Given the description of an element on the screen output the (x, y) to click on. 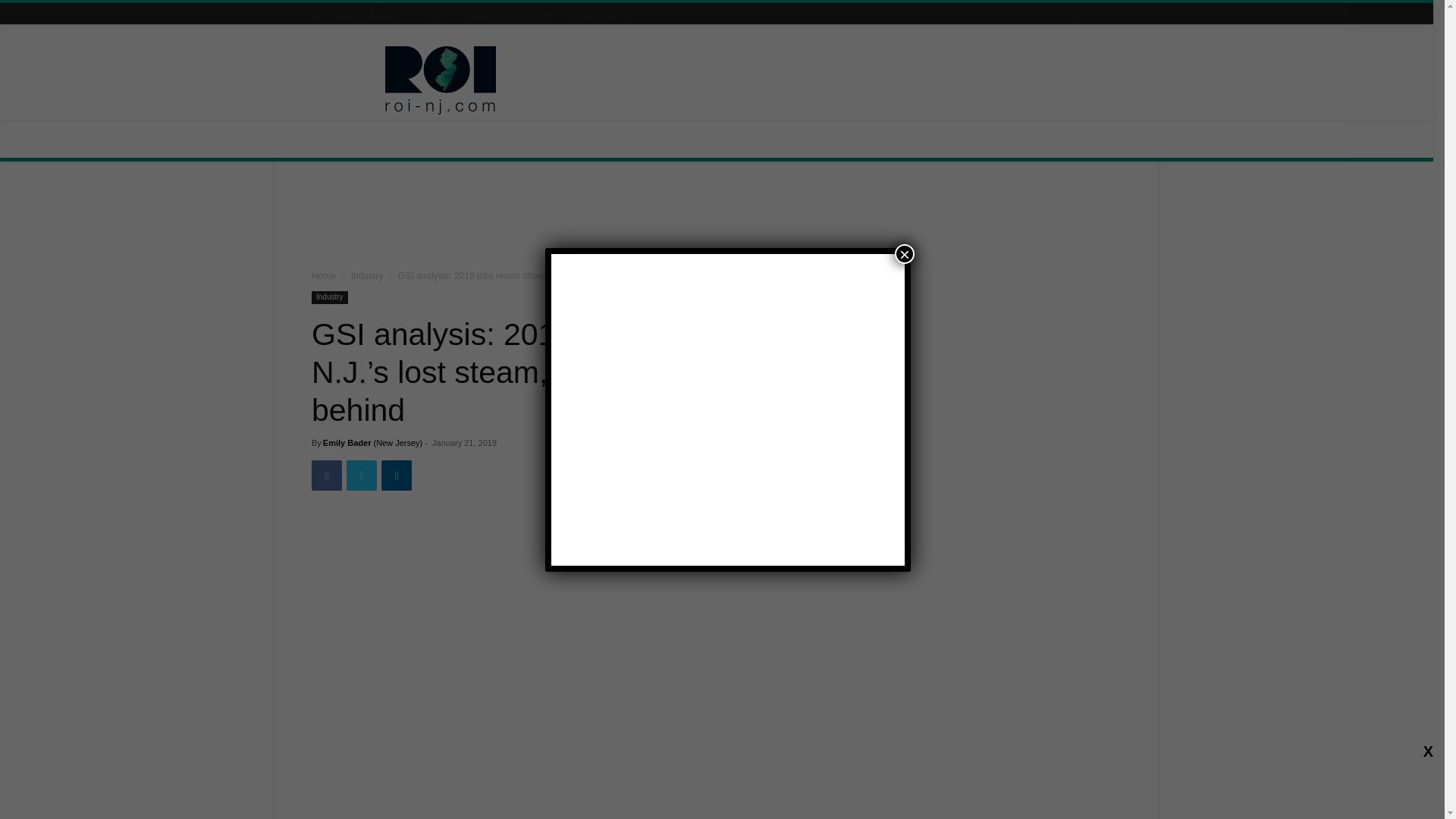
Linkedin (1094, 14)
Facebook (326, 475)
Twitter (1113, 14)
Facebook (1056, 14)
Linkedin (396, 475)
3rd party ad content (716, 218)
Twitter (361, 475)
Instagram (1075, 14)
View all posts in Industry (367, 276)
3rd party ad content (845, 79)
